Given the description of an element on the screen output the (x, y) to click on. 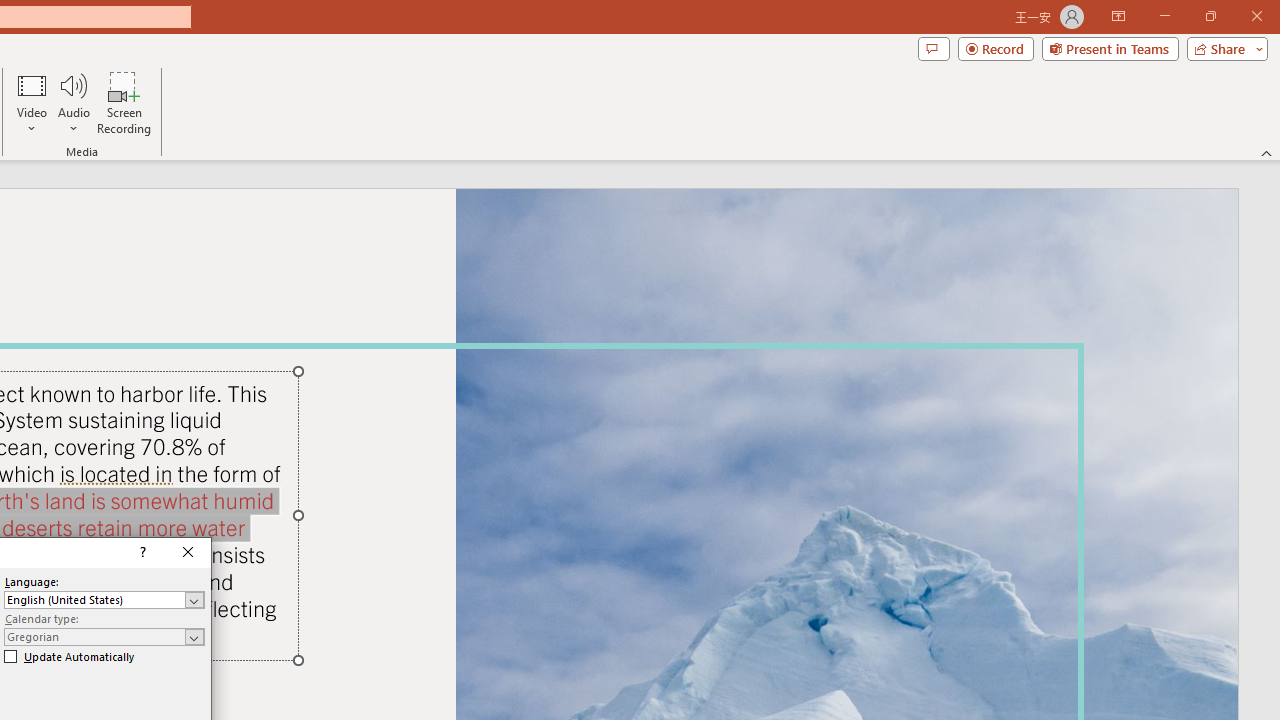
Video (31, 102)
Calendar type (103, 636)
